Given the description of an element on the screen output the (x, y) to click on. 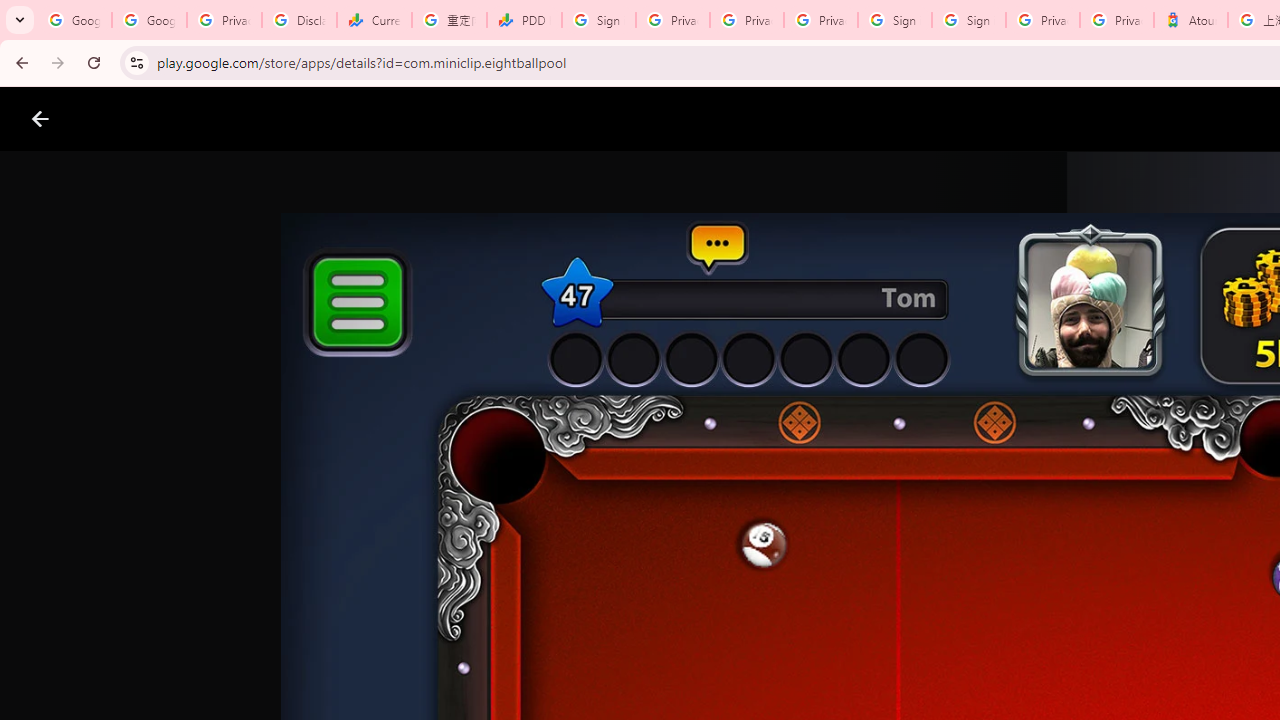
Miniclip.com (680, 586)
